Given the description of an element on the screen output the (x, y) to click on. 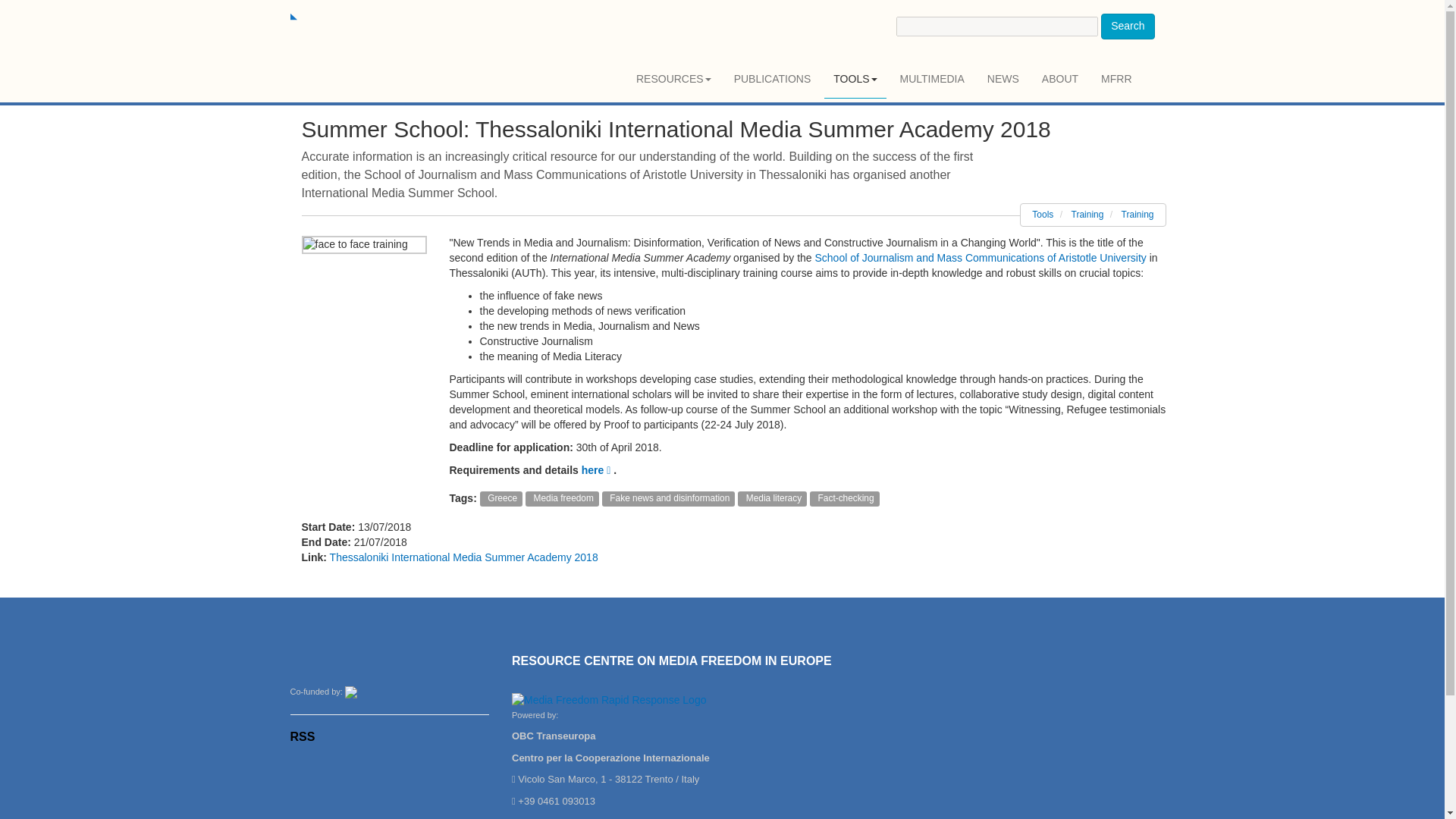
Media Freedom Rapid Response Logo (609, 700)
Link a here (596, 469)
Training (1137, 214)
Media literacy (772, 498)
Media freedom (561, 498)
RESOURCES (673, 78)
Search (1127, 26)
Tools (1042, 214)
